Given the description of an element on the screen output the (x, y) to click on. 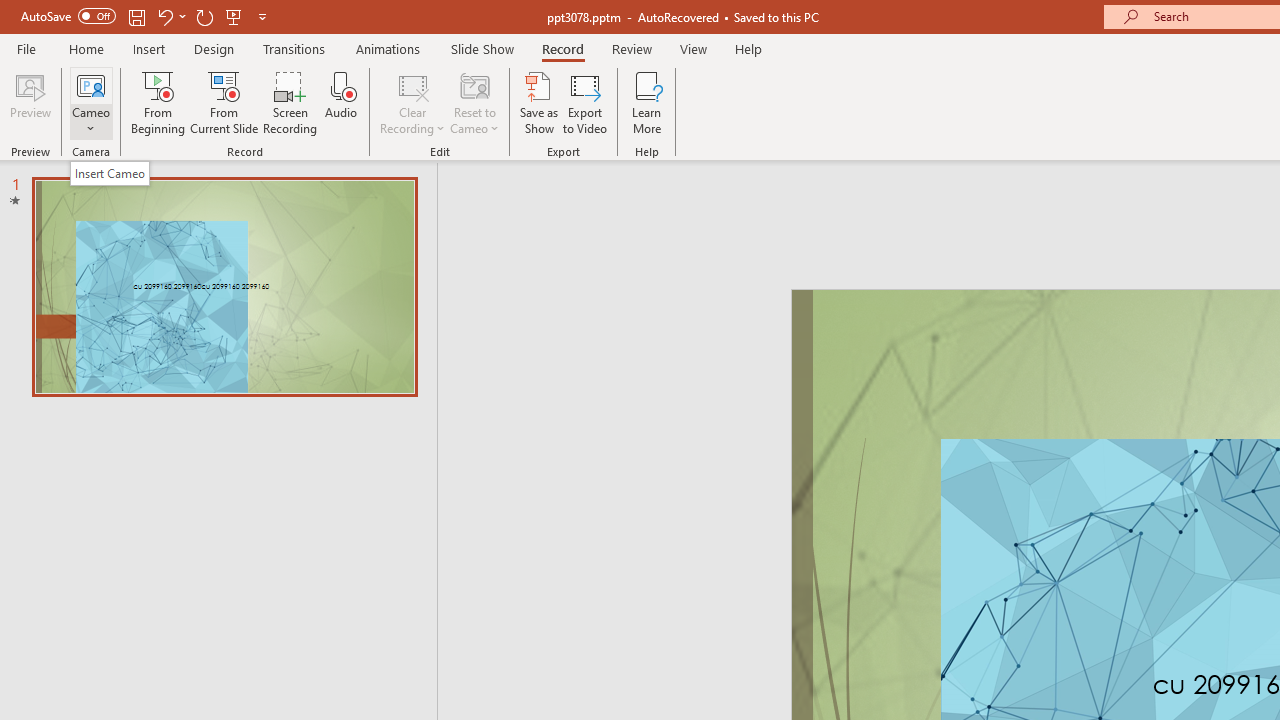
Insert Cameo (109, 173)
